Given the description of an element on the screen output the (x, y) to click on. 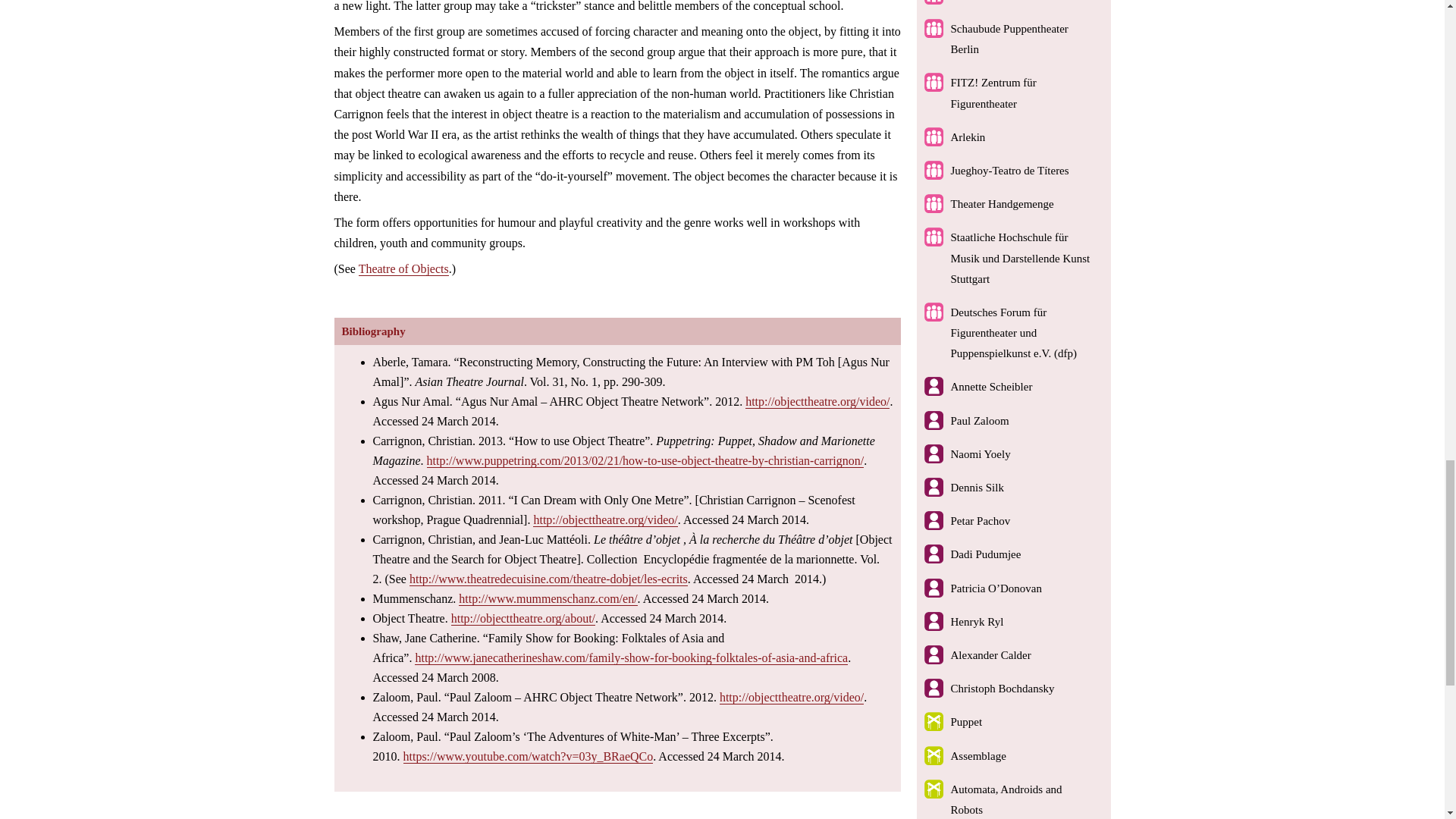
View article Theatre of Objects (403, 268)
